Given the description of an element on the screen output the (x, y) to click on. 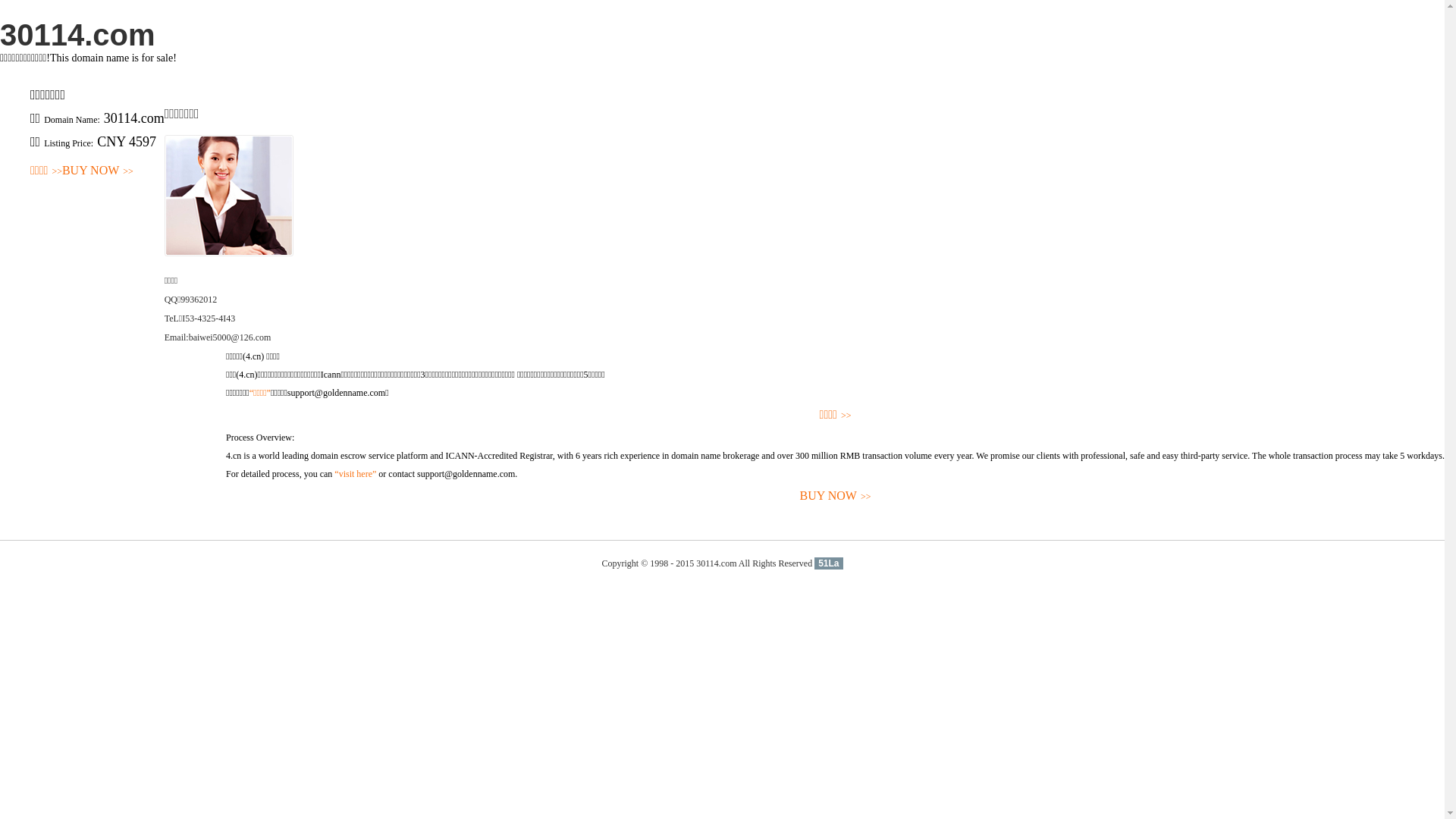
51La Element type: text (828, 563)
BUY NOW>> Element type: text (834, 496)
BUY NOW>> Element type: text (97, 170)
